Given the description of an element on the screen output the (x, y) to click on. 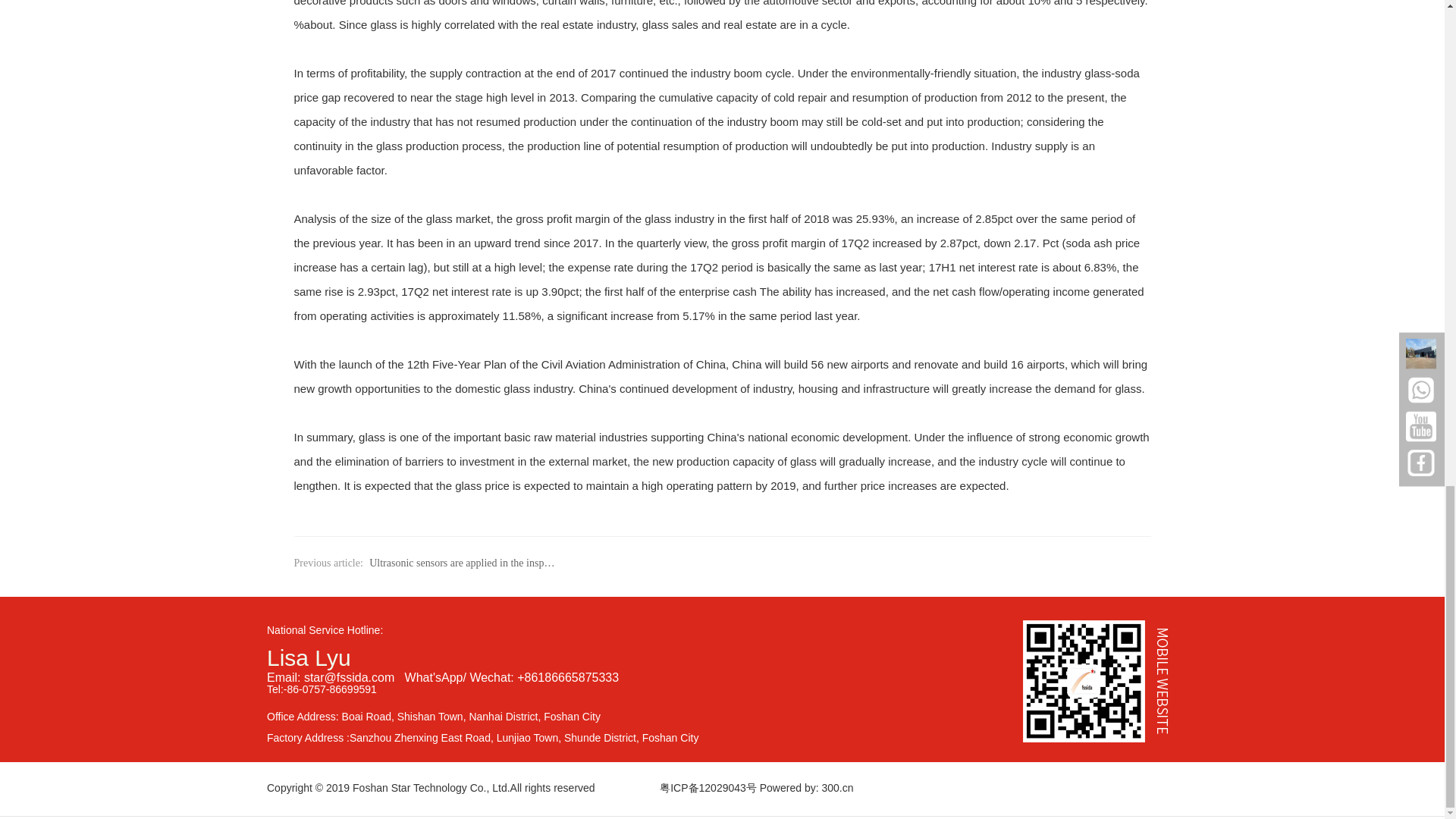
Powered by: 300.cn (806, 787)
sj (1099, 680)
